Given the description of an element on the screen output the (x, y) to click on. 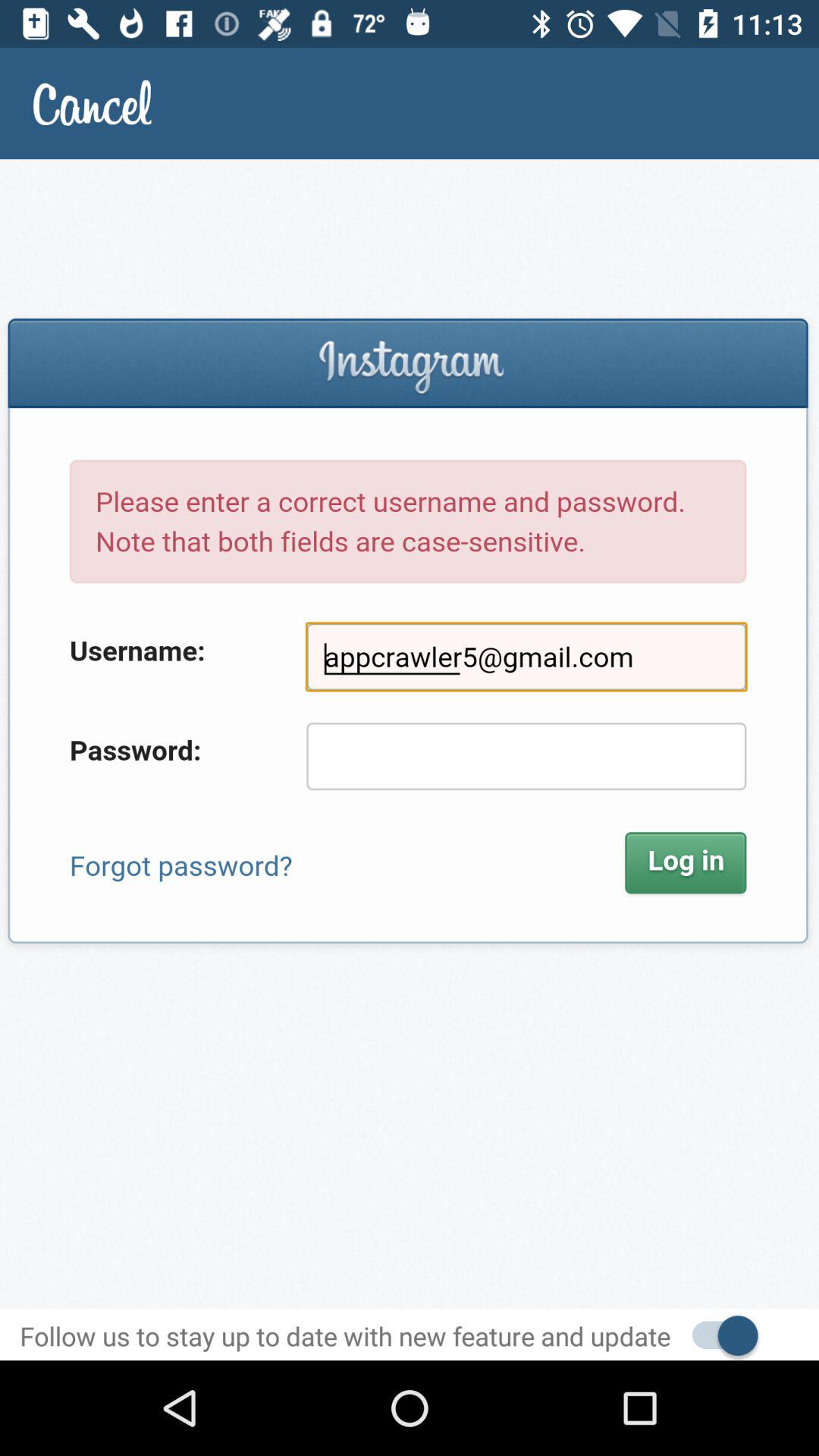
description (409, 733)
